Given the description of an element on the screen output the (x, y) to click on. 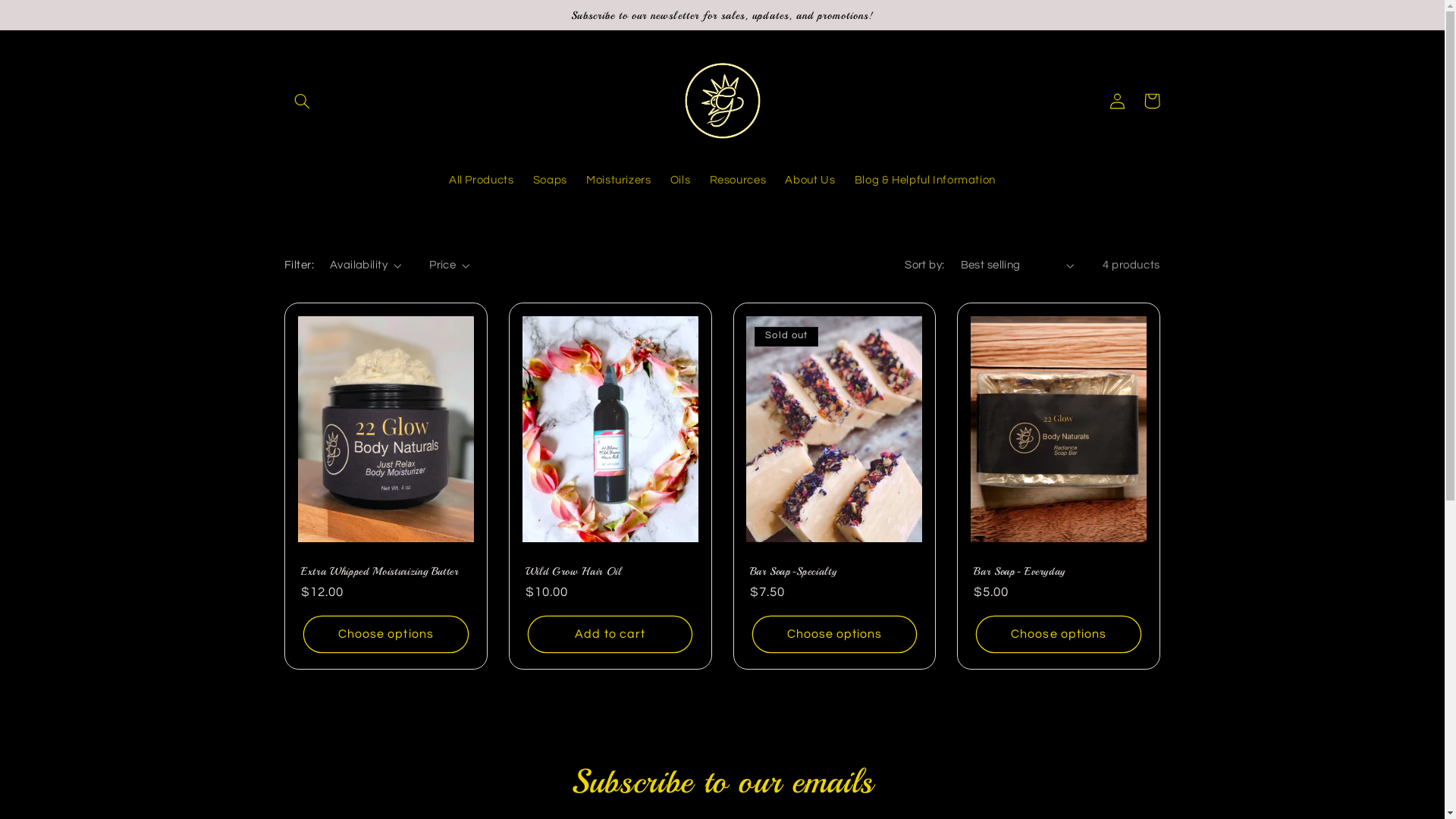
Log in Element type: text (1116, 100)
Choose options Element type: text (385, 633)
Moisturizers Element type: text (618, 180)
Choose options Element type: text (1057, 633)
Add to cart Element type: text (609, 633)
Soaps Element type: text (549, 180)
Choose options Element type: text (834, 633)
About Us Element type: text (809, 180)
Cart Element type: text (1151, 100)
All Products Element type: text (481, 180)
Wild Grow Hair Oil Element type: text (610, 570)
Bar Soap-Specialty Element type: text (834, 570)
Resources Element type: text (737, 180)
Oils Element type: text (679, 180)
Bar Soap- Everyday Element type: text (1058, 570)
Extra Whipped Moisturizing Butter Element type: text (385, 570)
Blog & Helpful Information Element type: text (924, 180)
